Given the description of an element on the screen output the (x, y) to click on. 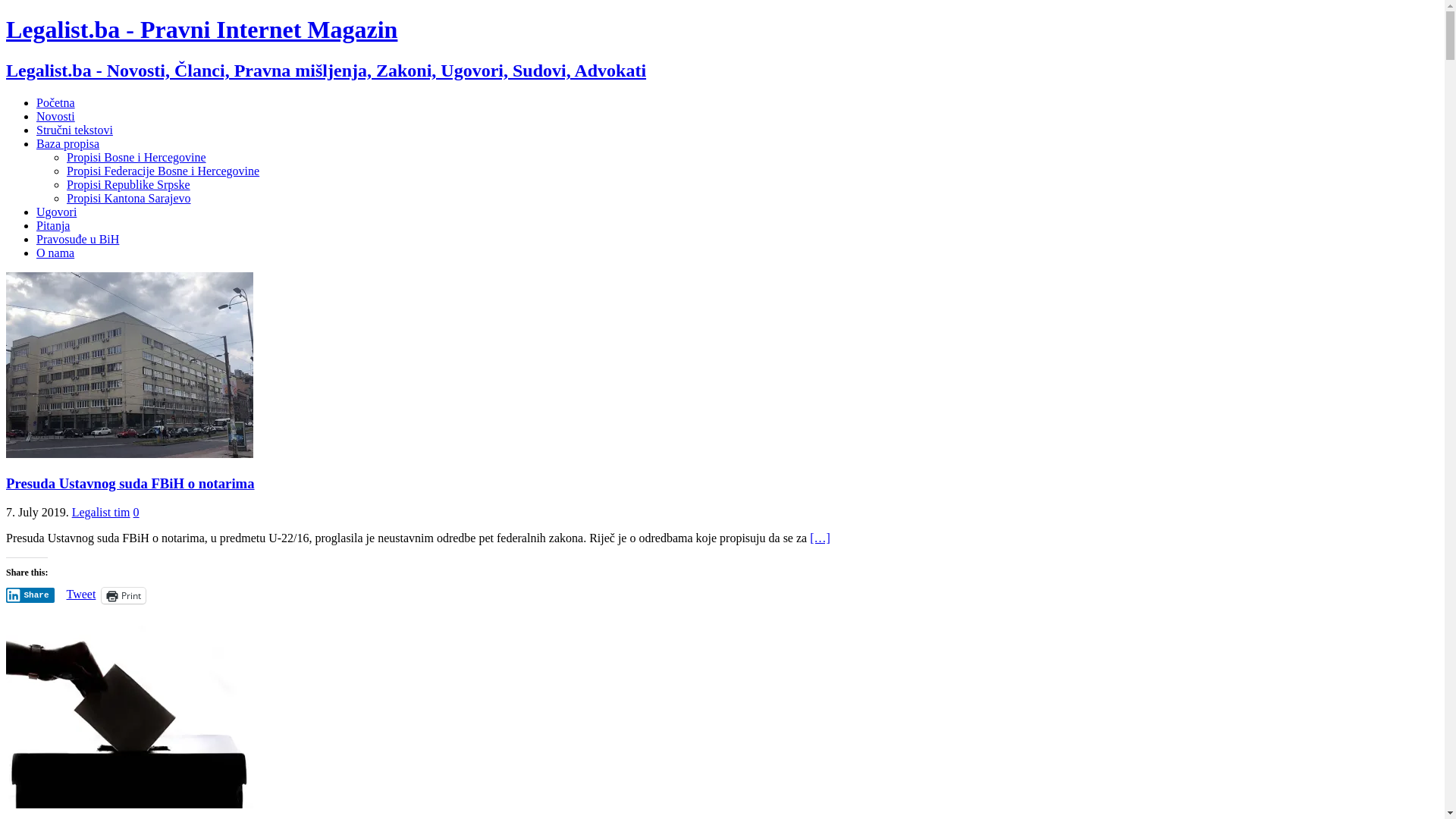
0 Element type: text (136, 511)
Pitanja Element type: text (52, 225)
Ugovori Element type: text (56, 211)
O nama Element type: text (55, 252)
Propisi Republike Srpske Element type: text (128, 184)
Propisi Kantona Sarajevo Element type: text (128, 197)
Legalist tim Element type: text (101, 511)
Print Element type: text (123, 595)
Presuda Ustavnog suda FBiH o notarima Element type: text (130, 482)
Share Element type: text (30, 594)
Propisi Bosne i Hercegovine Element type: text (136, 156)
Novosti Element type: text (55, 115)
Tweet Element type: text (81, 594)
Baza propisa Element type: text (67, 143)
Propisi Federacije Bosne i Hercegovine Element type: text (162, 170)
